Given the description of an element on the screen output the (x, y) to click on. 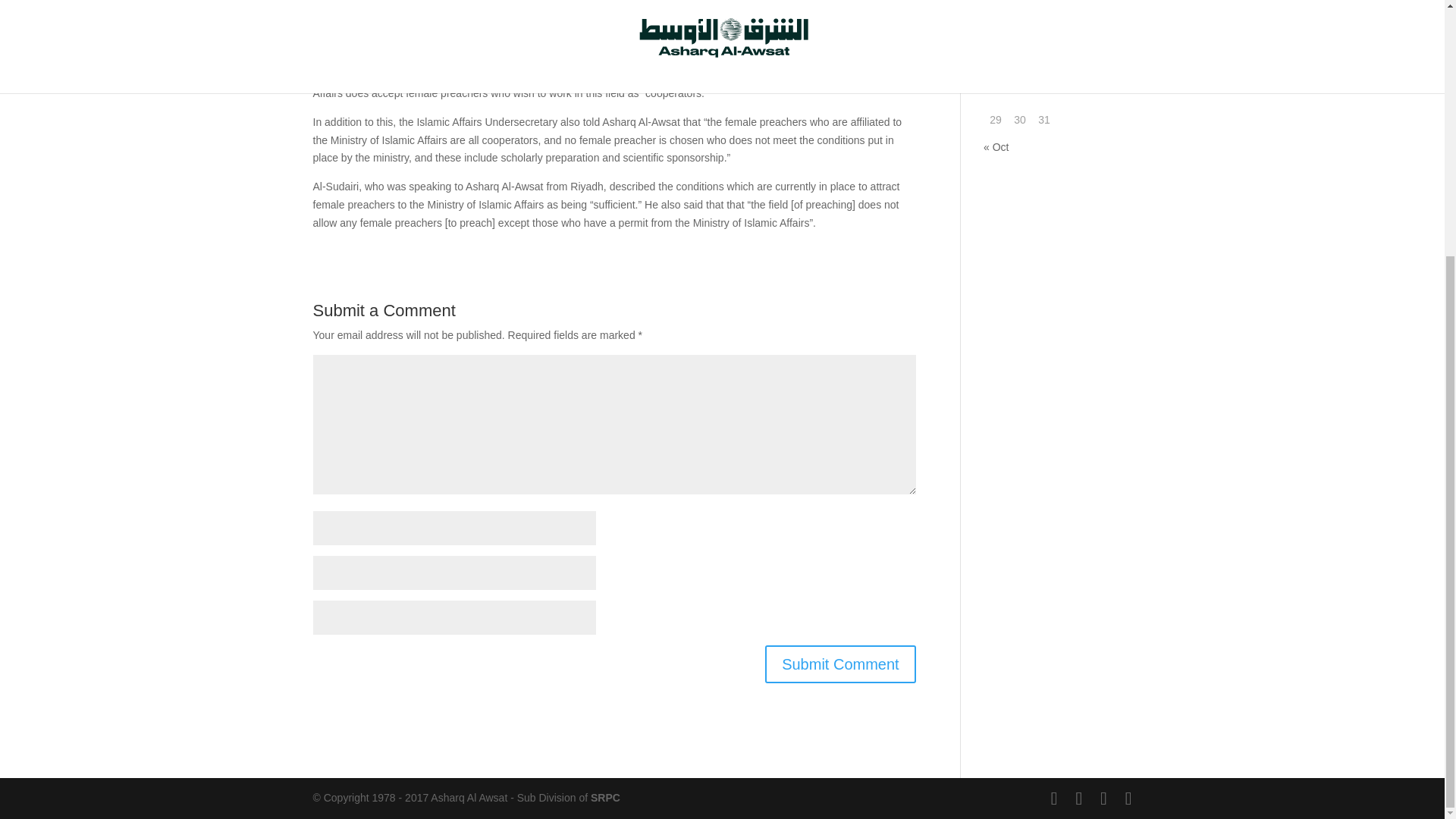
Submit Comment (840, 664)
Submit Comment (840, 664)
SRPC (605, 797)
